Given the description of an element on the screen output the (x, y) to click on. 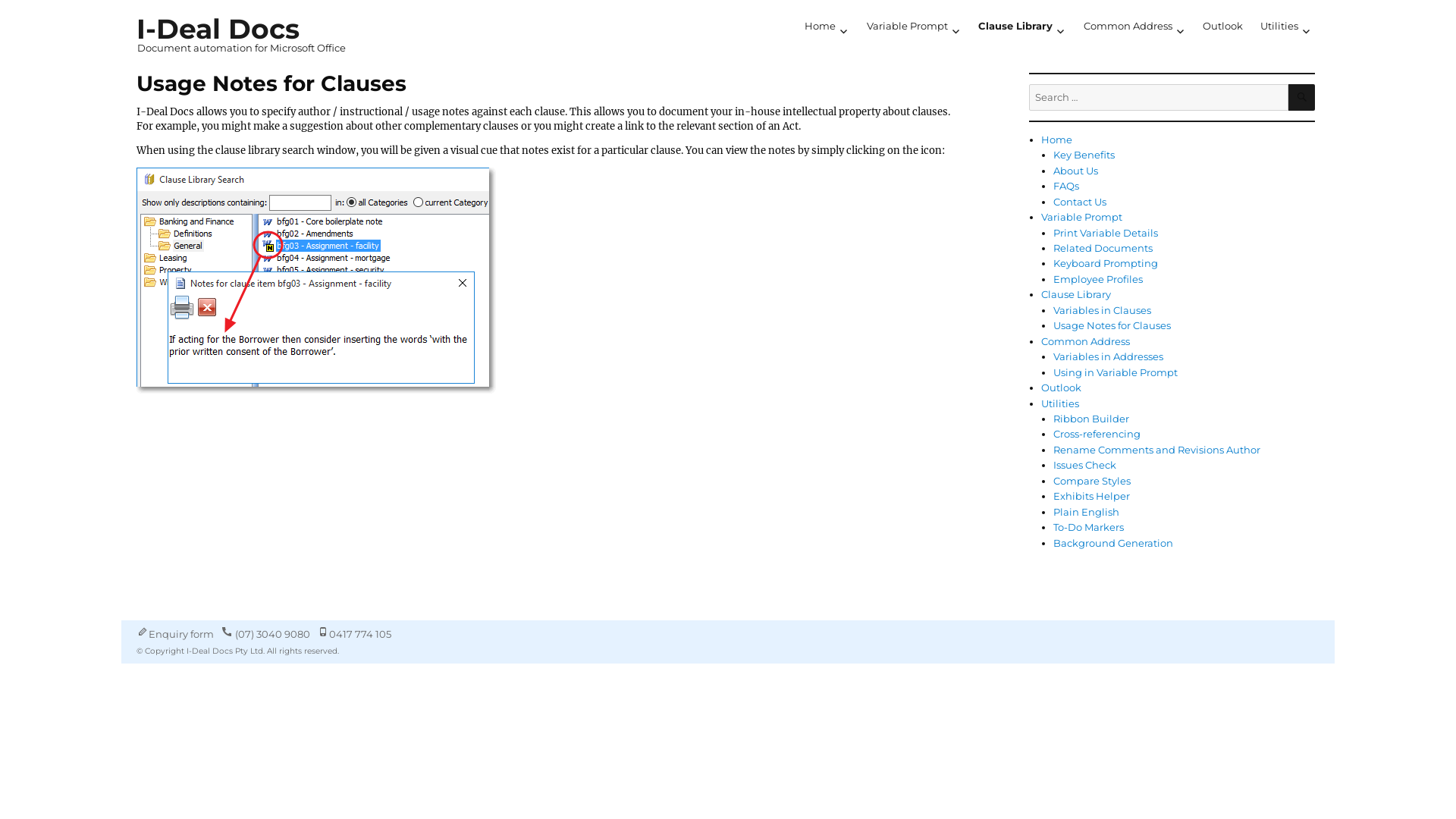
Variable Prompt Element type: text (1081, 216)
Keyboard Prompting Element type: text (1105, 263)
Background Generation Element type: text (1113, 542)
Compare Styles Element type: text (1091, 480)
About Us Element type: text (1075, 170)
Clause Library Element type: text (1075, 294)
I-Deal Docs Element type: text (217, 28)
To-Do Markers Element type: text (1088, 526)
Common Address Element type: text (1134, 26)
Enquiry form Element type: text (180, 633)
Utilities Element type: text (1286, 26)
Variables in Addresses Element type: text (1108, 356)
Variable Prompt Element type: text (913, 26)
Usage Notes for Clauses Element type: text (1111, 325)
Key Benefits Element type: text (1083, 154)
Related Documents Element type: text (1102, 247)
FAQs Element type: text (1066, 185)
Rename Comments and Revisions Author Element type: text (1156, 449)
Plain English Element type: text (1086, 511)
Issues Check Element type: text (1084, 464)
Home Element type: text (827, 26)
Exhibits Helper Element type: text (1091, 495)
Employee Profiles Element type: text (1097, 279)
Clause Library Element type: text (1022, 26)
Contact Us Element type: text (1079, 201)
Cross-referencing Element type: text (1096, 433)
Print Variable Details Element type: text (1105, 232)
SEARCH Element type: text (1301, 96)
Ribbon Builder Element type: text (1091, 418)
Variables in Clauses Element type: text (1102, 310)
Using in Variable Prompt Element type: text (1115, 372)
Utilities Element type: text (1060, 403)
Common Address Element type: text (1085, 341)
Outlook Element type: text (1223, 26)
Outlook Element type: text (1061, 387)
Home Element type: text (1056, 139)
